Given the description of an element on the screen output the (x, y) to click on. 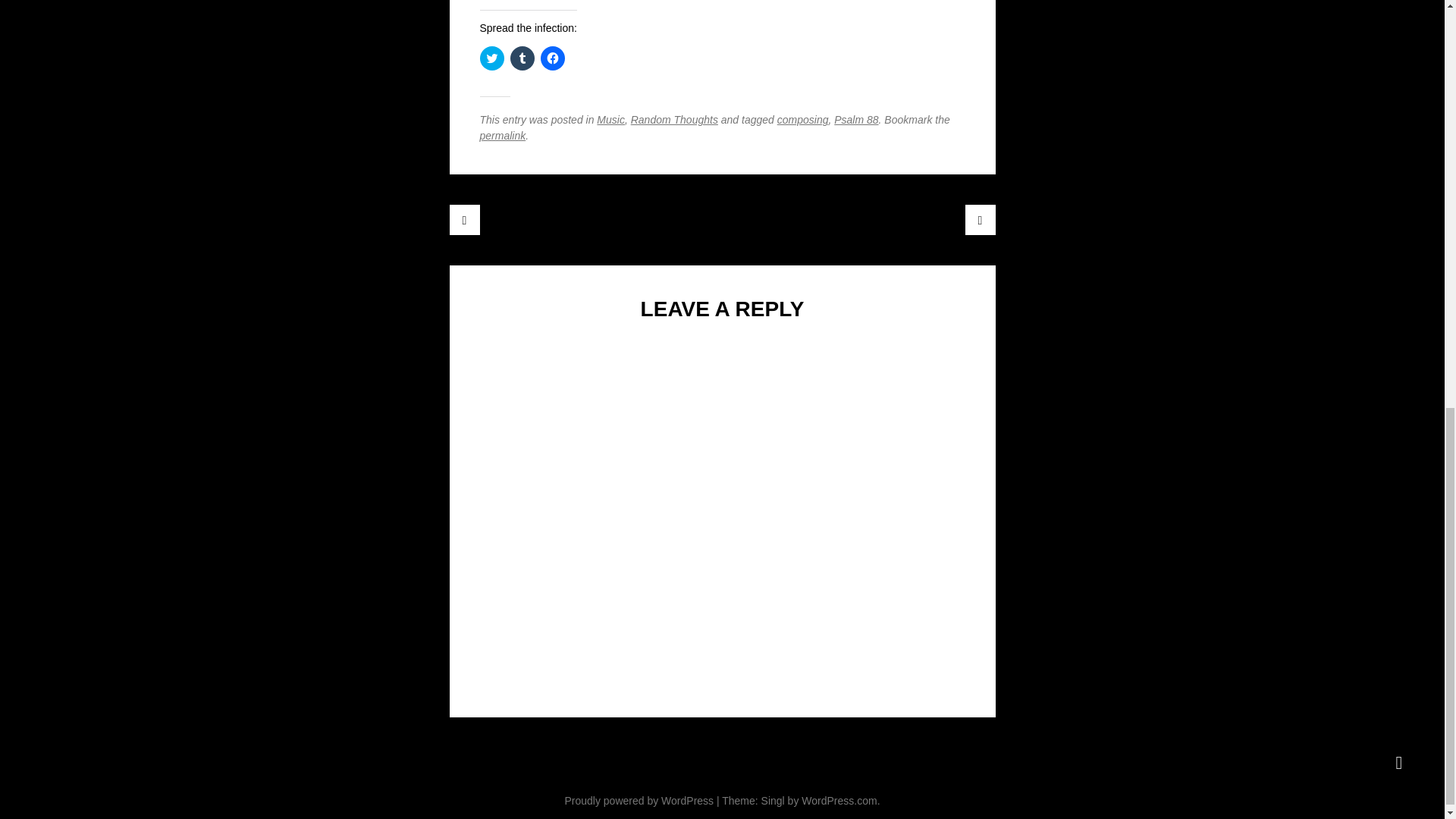
Click to share on Facebook (552, 57)
composing (802, 119)
Widgets (1398, 762)
permalink (502, 135)
Psalm 88 (855, 119)
Music (610, 119)
Click to share on Twitter (491, 57)
Random Thoughts (673, 119)
Widgets (1398, 762)
Click to share on Tumblr (521, 57)
